Given the description of an element on the screen output the (x, y) to click on. 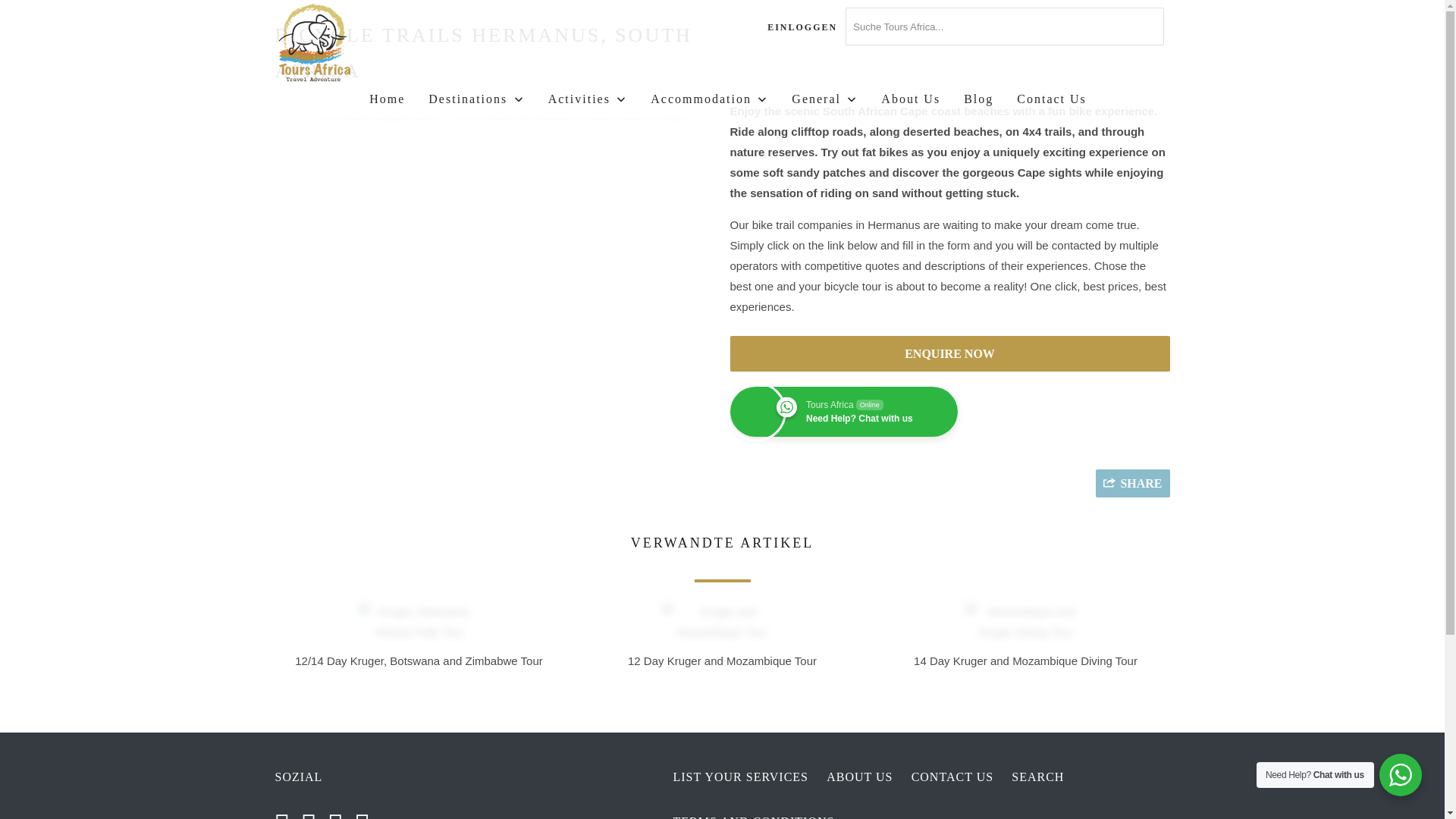
Mein Konto  (802, 27)
Tours Africa on Twitter (286, 813)
Tours Africa on Facebook (312, 813)
Email Tours Africa (366, 813)
Tours Africa (352, 43)
Tours Africa on Instagram (340, 813)
